Given the description of an element on the screen output the (x, y) to click on. 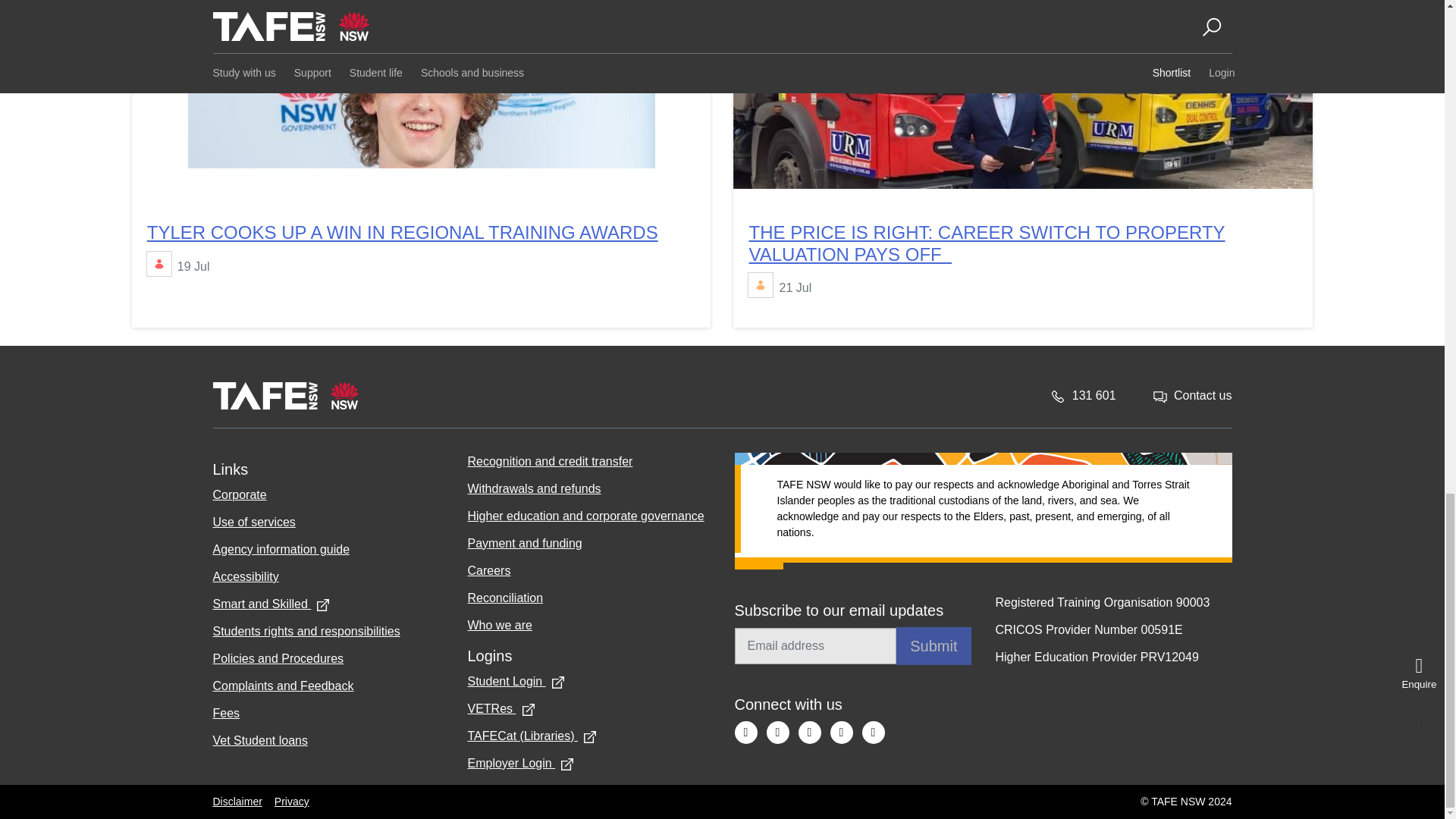
TAFE NSW Home (285, 395)
